Given the description of an element on the screen output the (x, y) to click on. 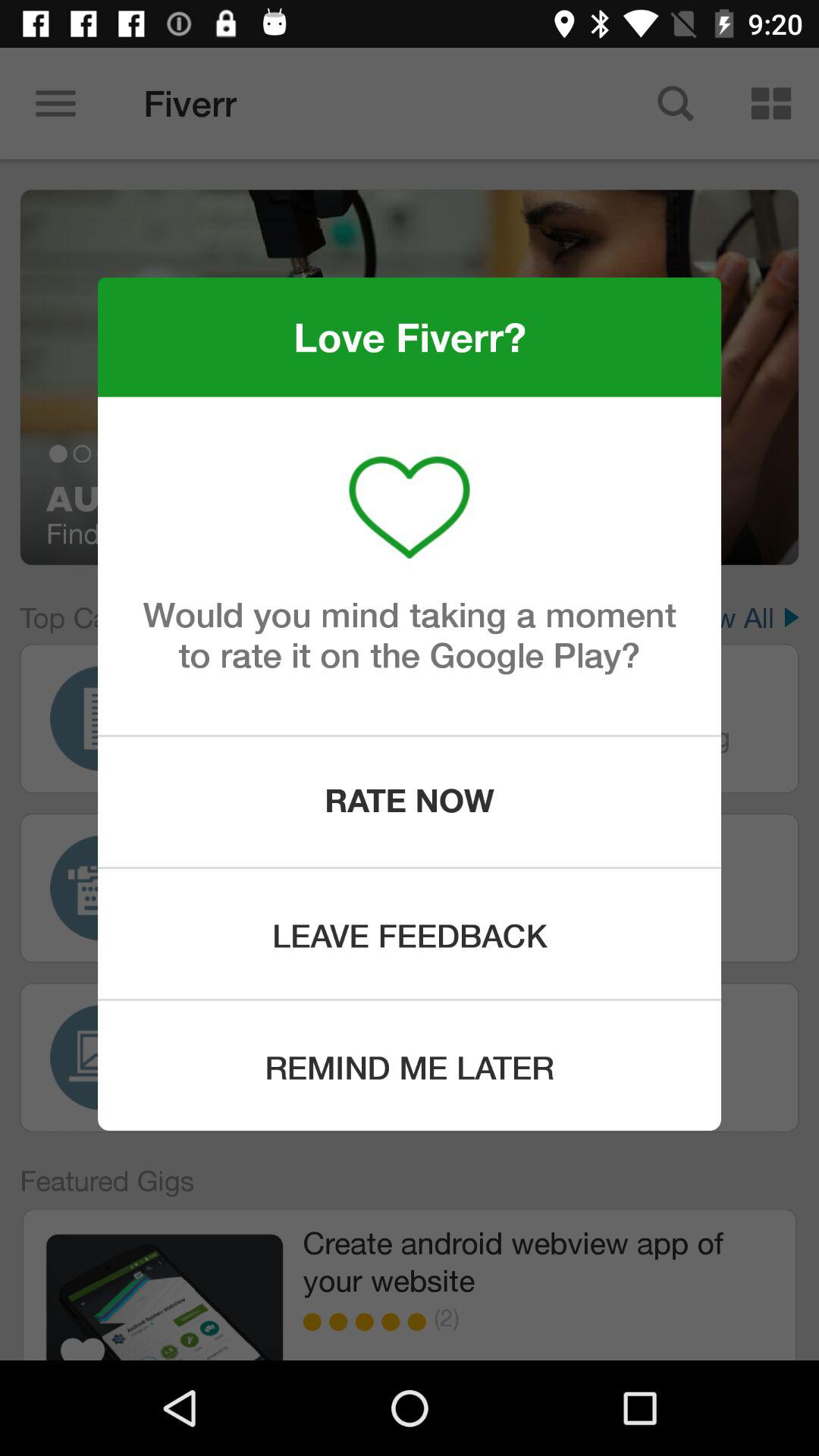
swipe to leave feedback item (409, 933)
